Given the description of an element on the screen output the (x, y) to click on. 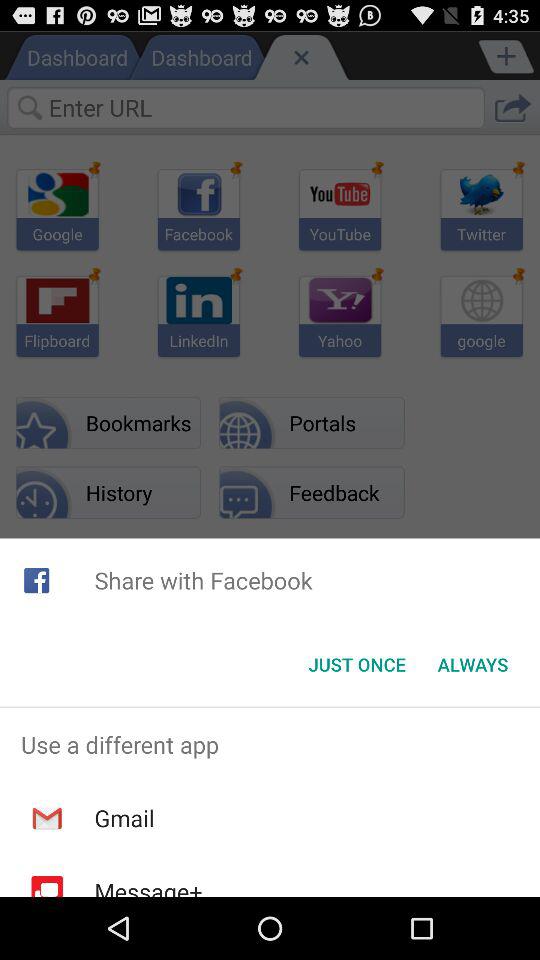
choose icon to the left of always icon (356, 664)
